Given the description of an element on the screen output the (x, y) to click on. 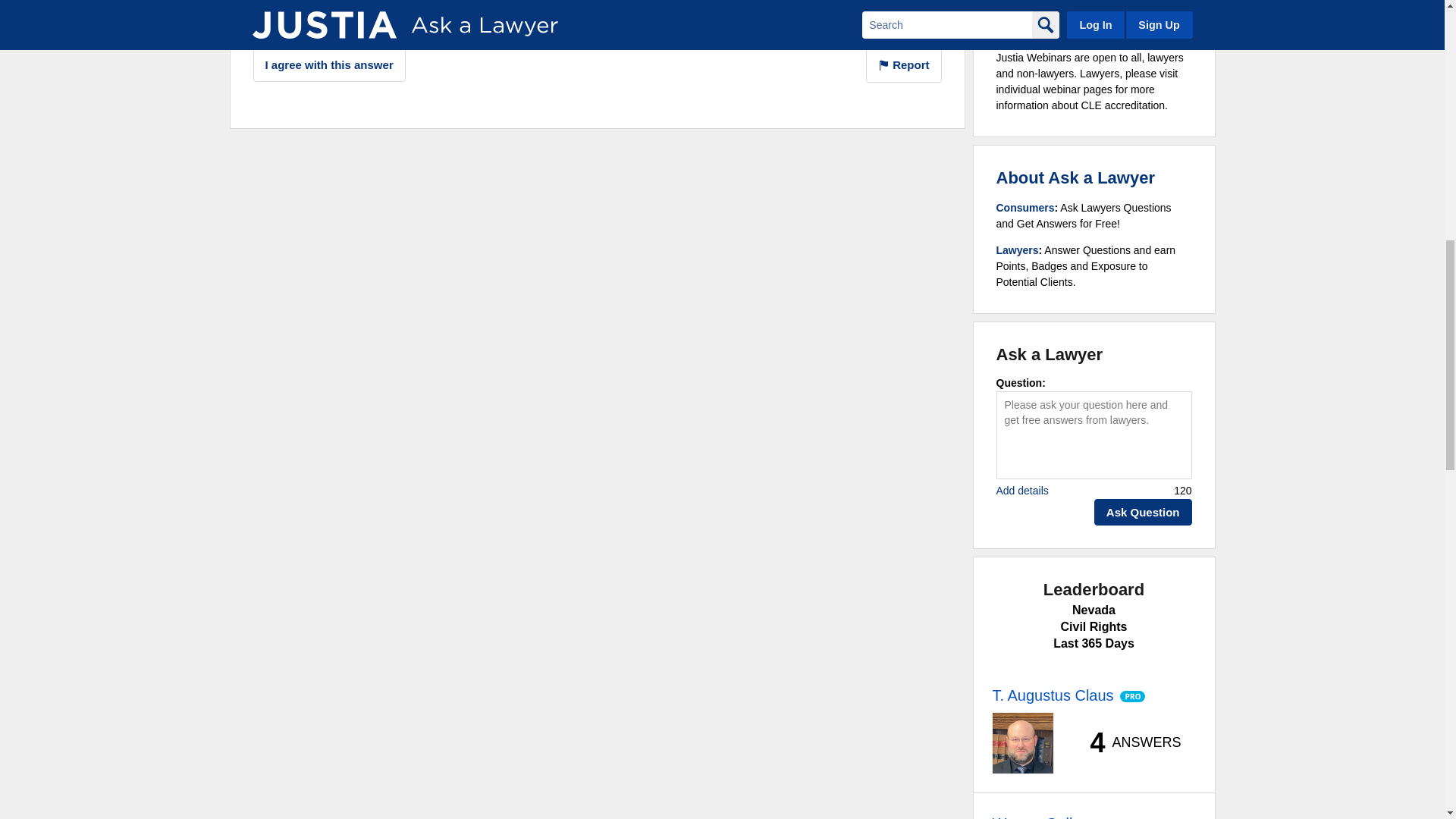
Ask a Lawyer - Leaderboard - Lawyer Photo (1021, 742)
Ask a Lawyer - FAQs - Lawyers (1017, 250)
Ask a Lawyer - Leaderboard - Lawyer Name (1038, 815)
Ask a Lawyer - Leaderboard - Lawyer Name (1052, 694)
Ask a Lawyer - Leaderboard - Lawyer Stats (1127, 742)
Ask a Lawyer - FAQs - Consumers (1024, 207)
